Given the description of an element on the screen output the (x, y) to click on. 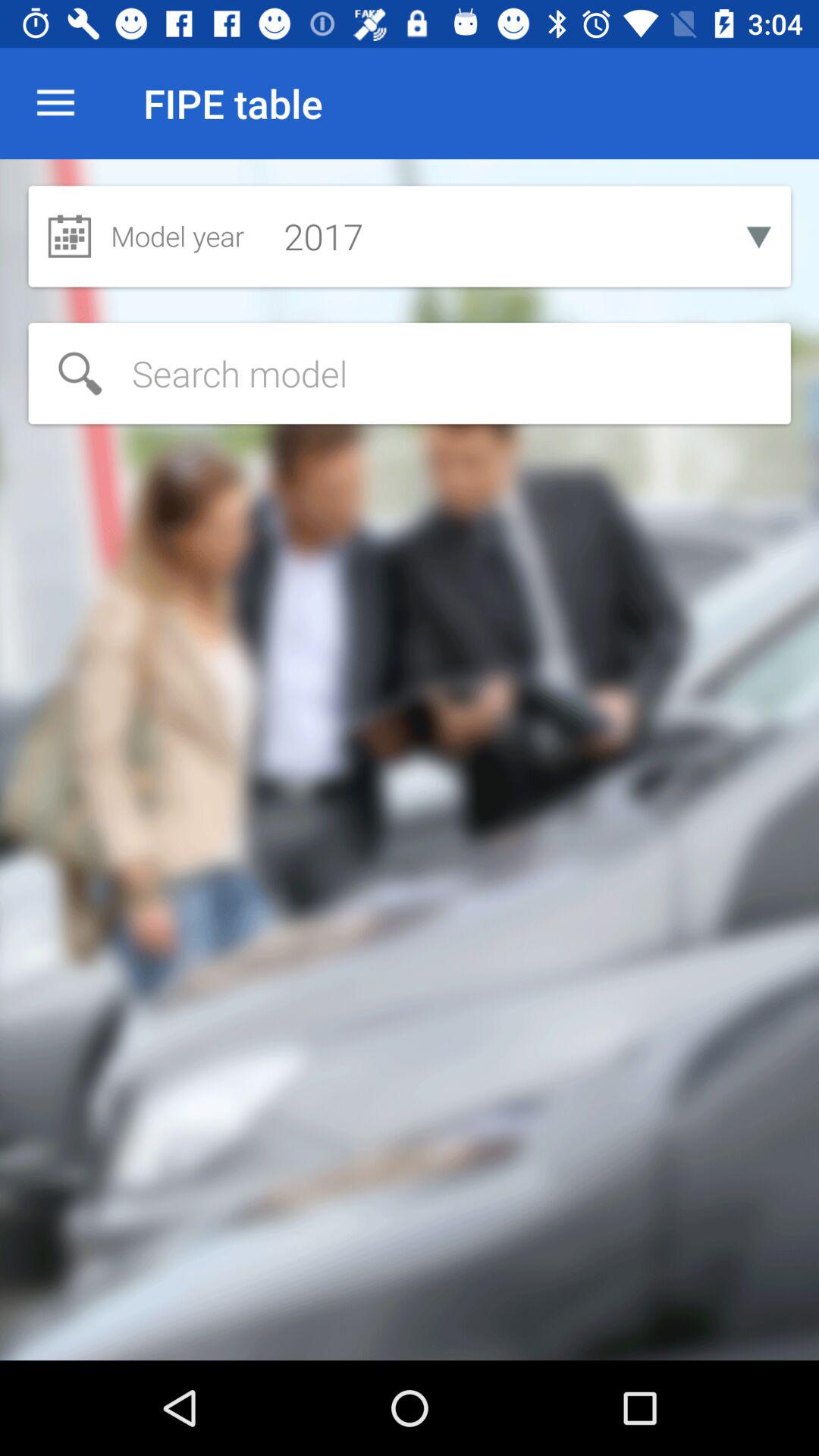
search items (409, 373)
